Given the description of an element on the screen output the (x, y) to click on. 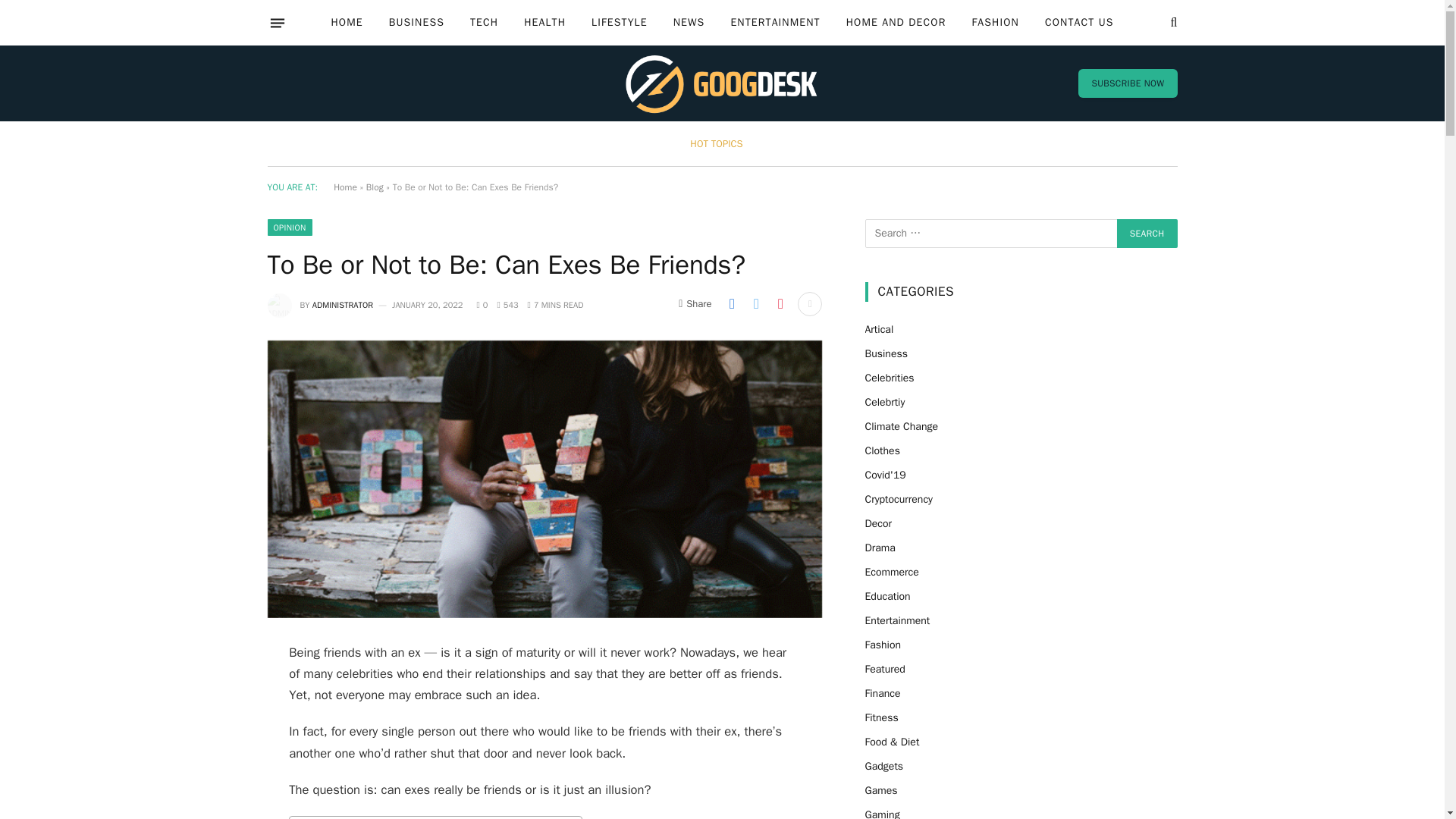
NEWS (689, 22)
HOME (346, 22)
LIFESTYLE (619, 22)
Home (344, 186)
TECH (484, 22)
543 Article Views (507, 304)
CONTACT US (1079, 22)
HEALTH (544, 22)
Googdesk (721, 83)
Search (1146, 233)
Search (1146, 233)
BUSINESS (416, 22)
Share on Pinterest (780, 303)
Posts by Administrator (342, 304)
HOME AND DECOR (895, 22)
